Given the description of an element on the screen output the (x, y) to click on. 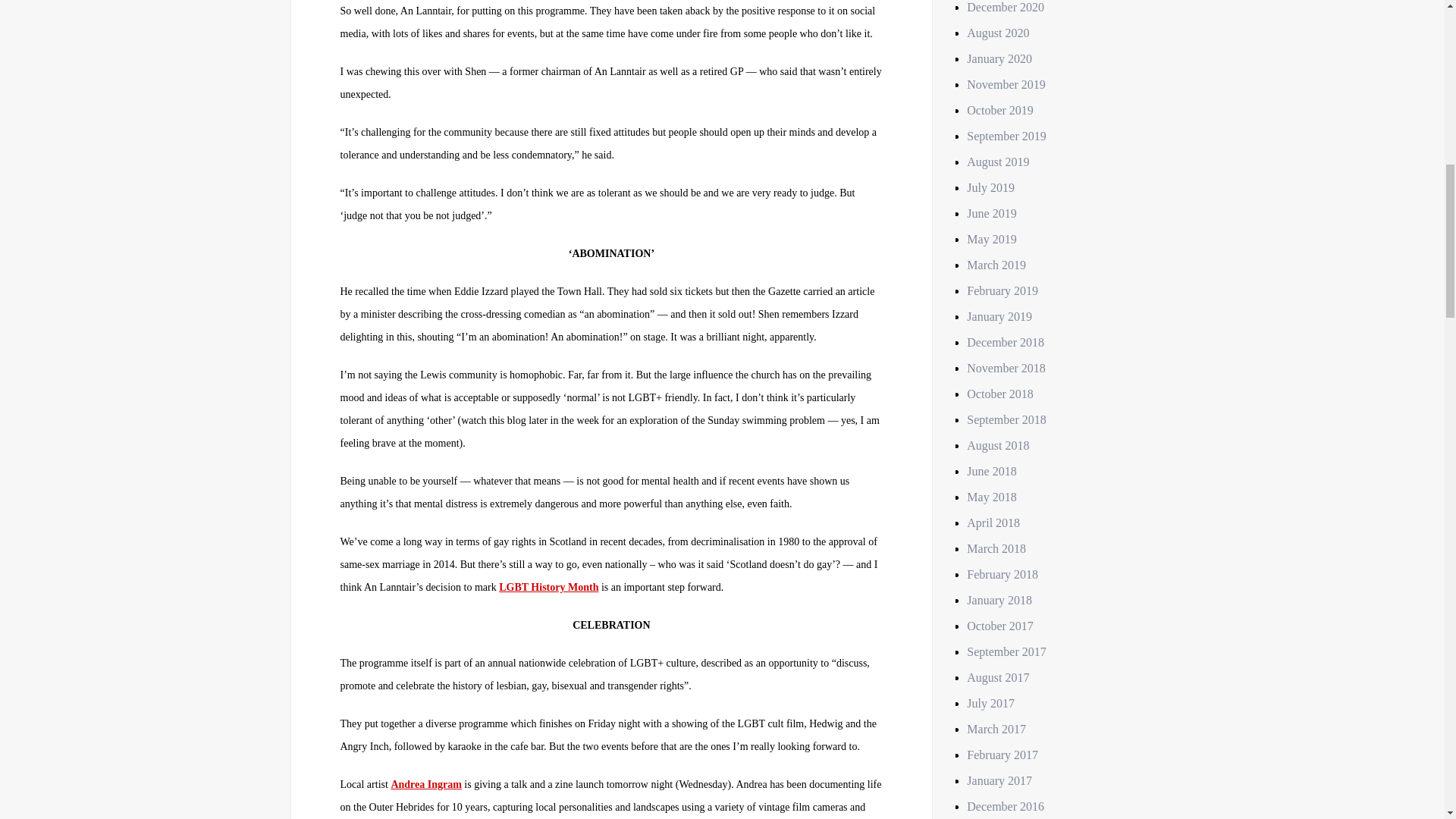
Andrea Ingram (425, 784)
LGBT History Month (548, 586)
